Given the description of an element on the screen output the (x, y) to click on. 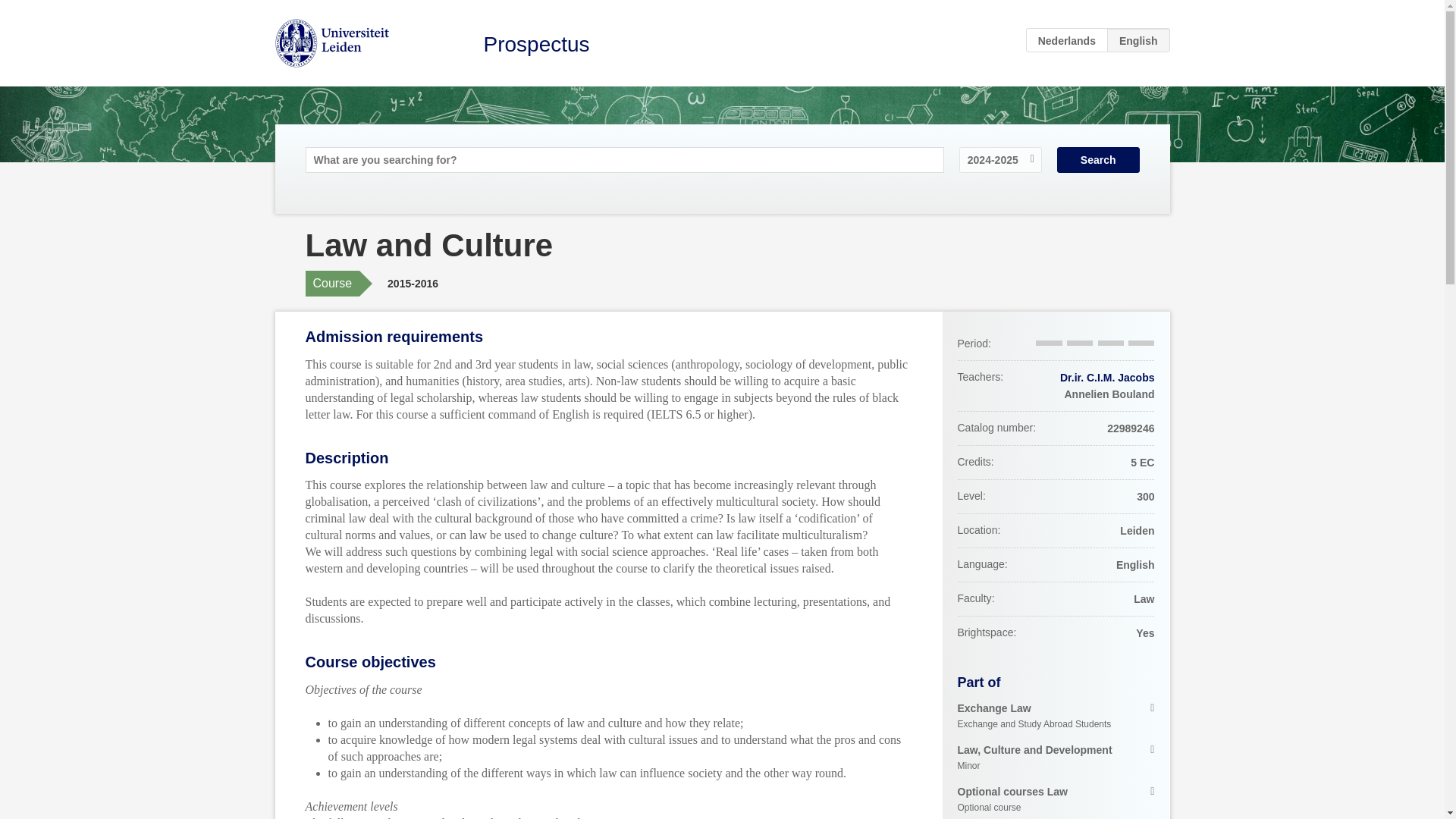
Dr.ir. C.I.M. Jacobs (1055, 758)
NL (1106, 377)
Prospectus (1055, 716)
Search (1067, 39)
